Given the description of an element on the screen output the (x, y) to click on. 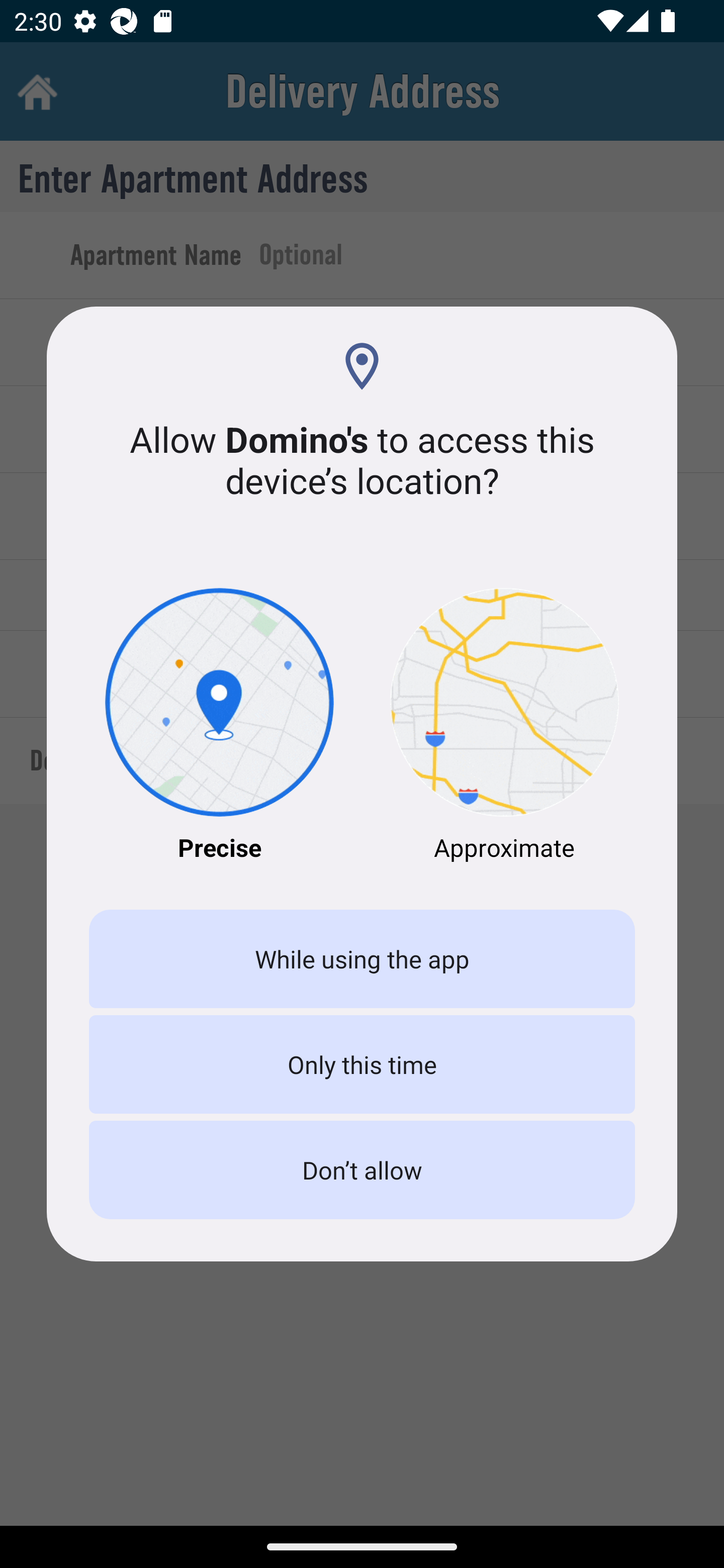
Precise (218, 725)
Approximate (504, 725)
While using the app (361, 958)
Only this time (361, 1063)
Don’t allow (361, 1170)
